Given the description of an element on the screen output the (x, y) to click on. 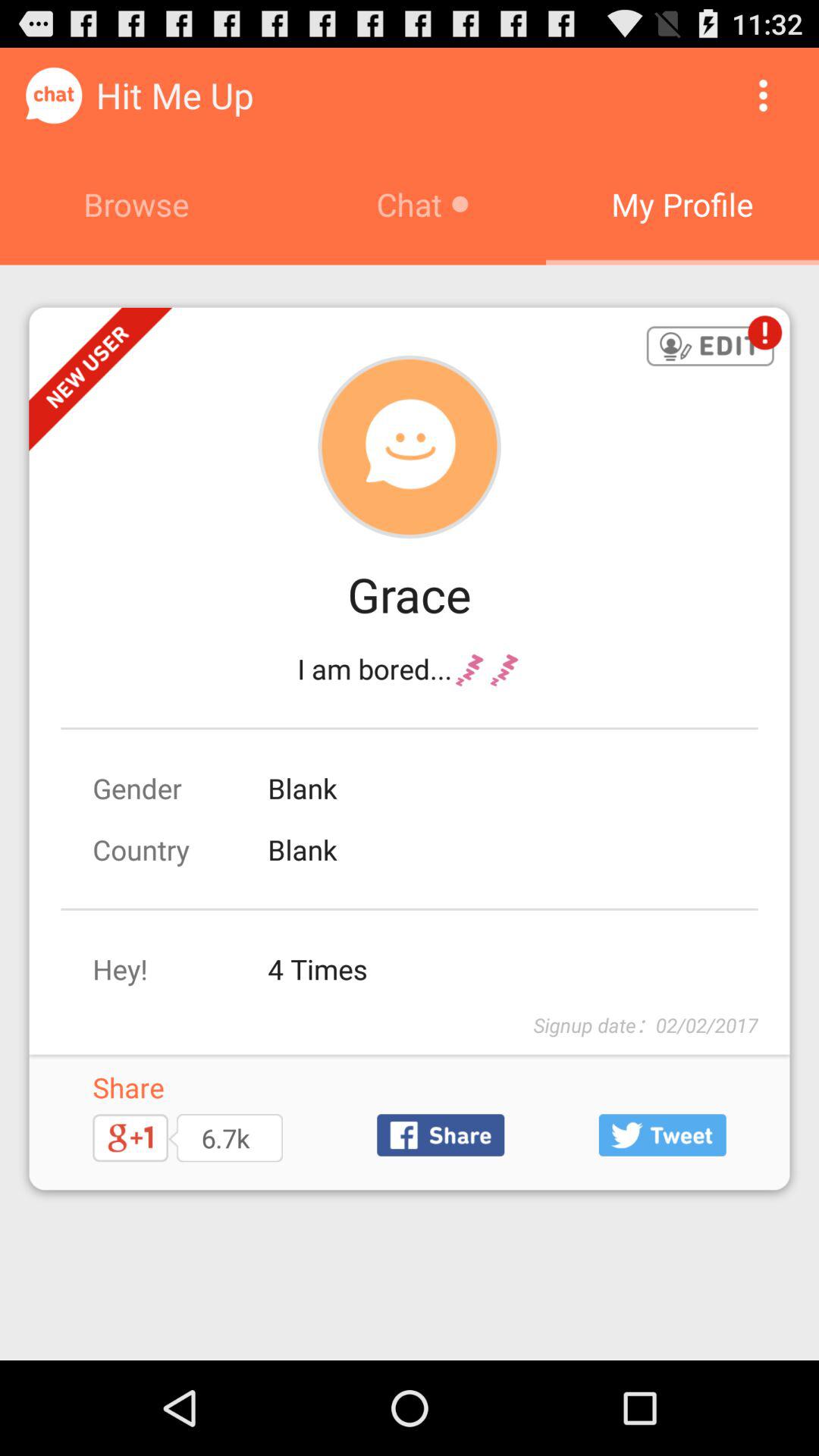
turn on the button next to browse button (763, 95)
